Given the description of an element on the screen output the (x, y) to click on. 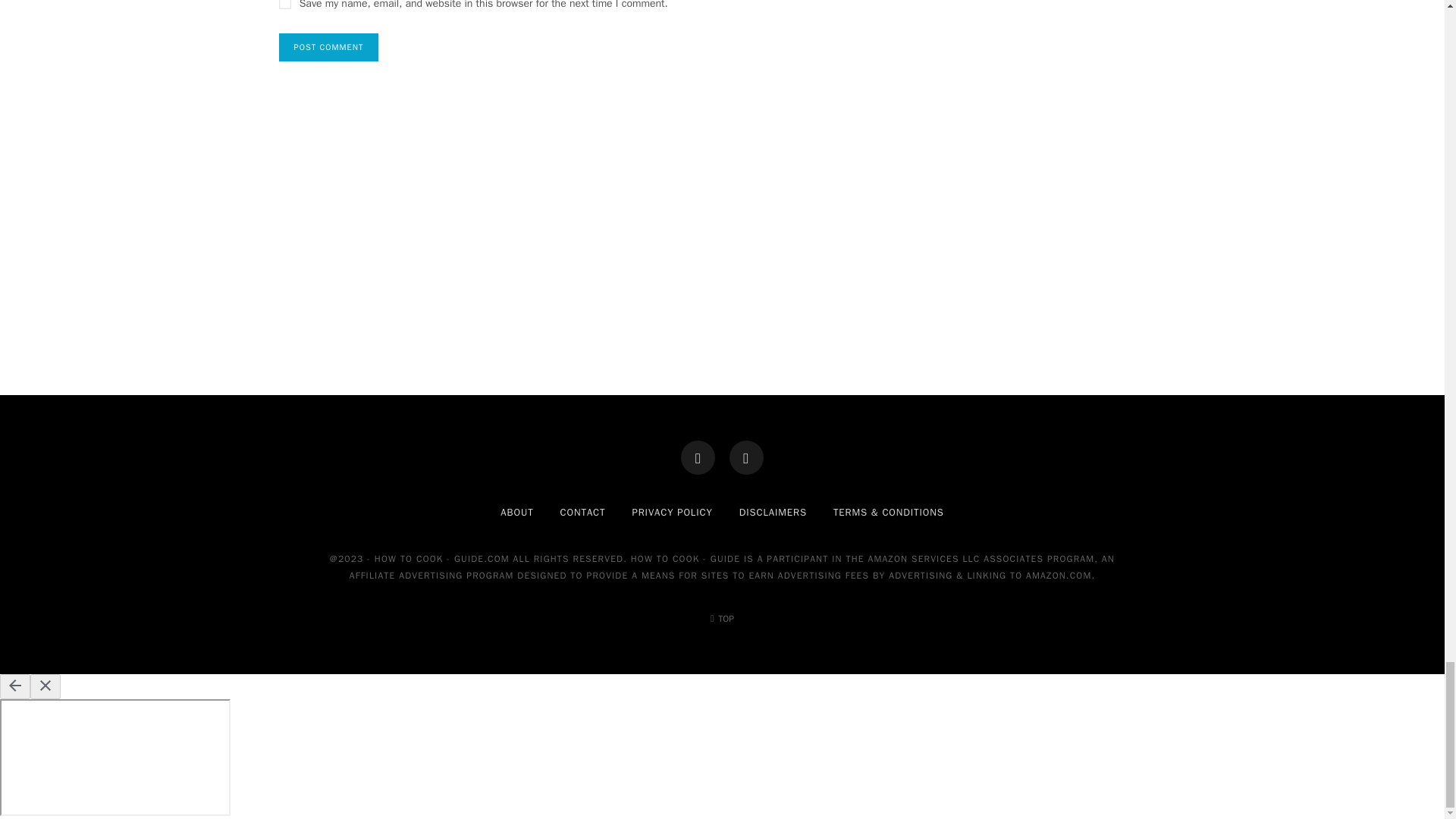
ABOUT (516, 512)
PRIVACY POLICY (671, 512)
DISCLAIMERS (772, 512)
yes (285, 4)
Post Comment (328, 47)
TOP (721, 618)
Post Comment (328, 47)
CONTACT (582, 512)
